Given the description of an element on the screen output the (x, y) to click on. 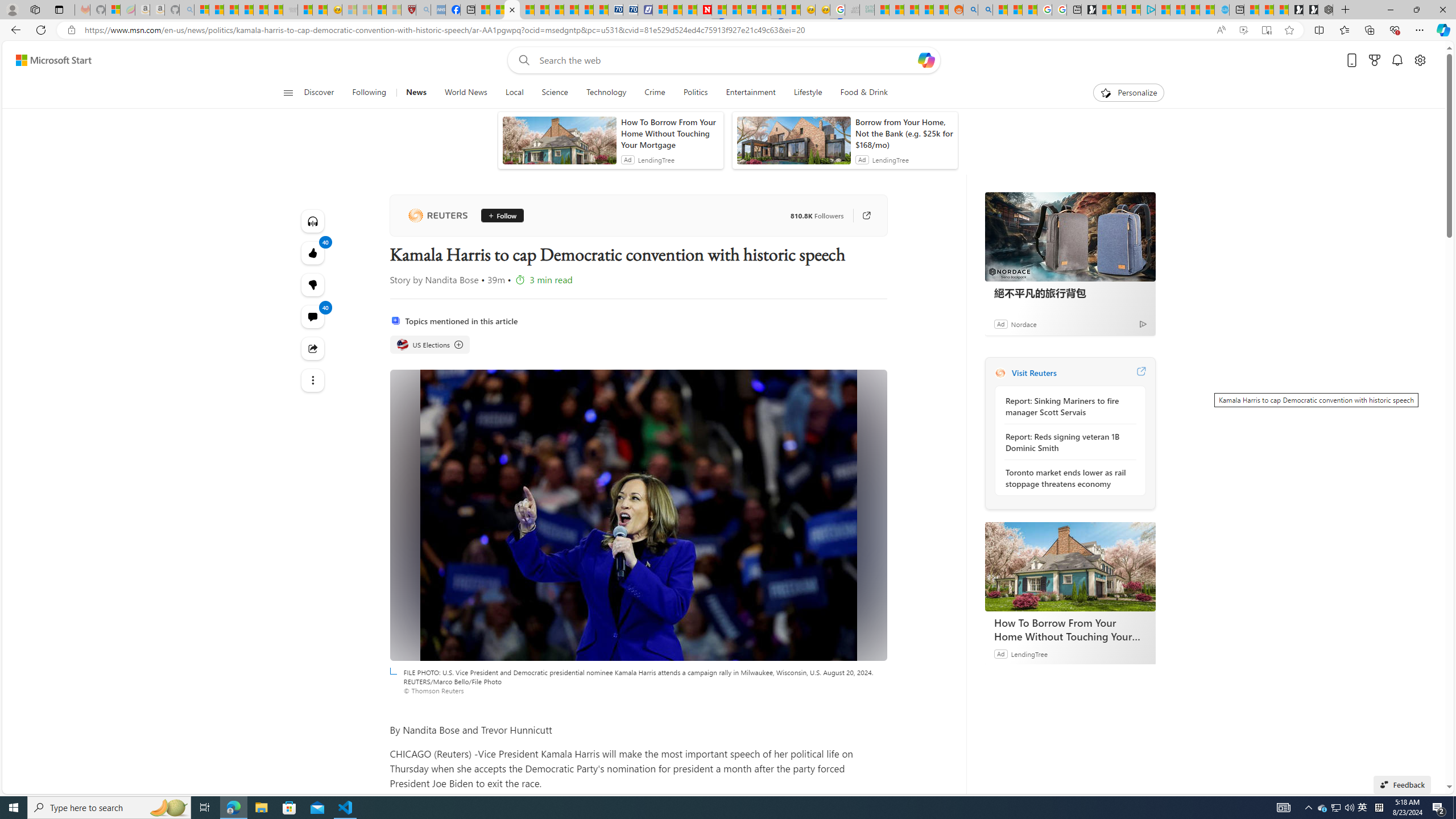
Home | Sky Blue Bikes - Sky Blue Bikes (1221, 9)
Utah sues federal government - Search (984, 9)
Open navigation menu (287, 92)
